Given the description of an element on the screen output the (x, y) to click on. 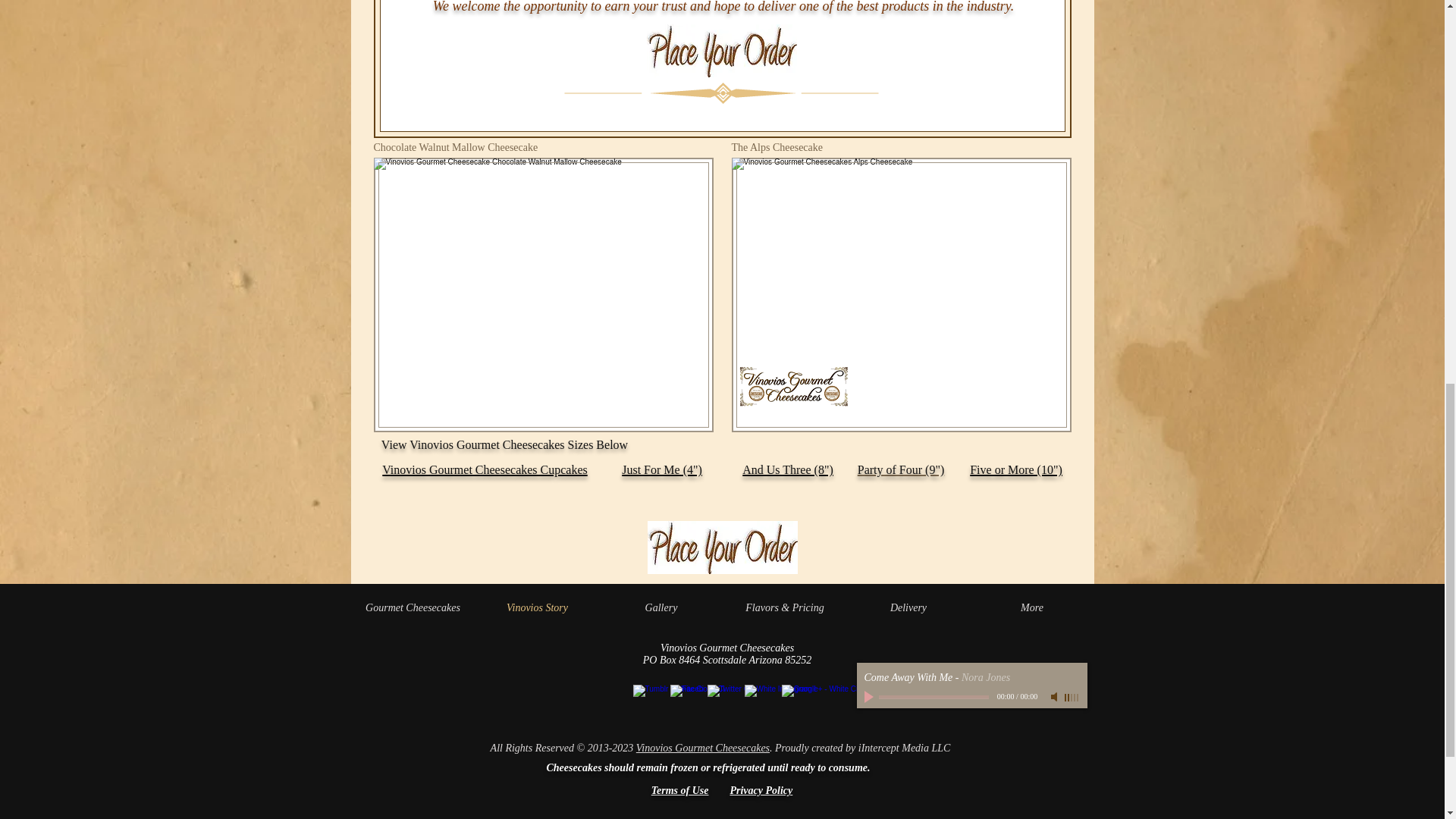
Click to order (722, 547)
Vinovios Gourmet Cheesecakes Cupcakes (484, 468)
0 (932, 697)
Delivery (907, 607)
Terms of Use (679, 790)
Gallery (660, 607)
Vinovios Gourmet Chocolate Walnut Mallow Cheesecake (542, 295)
Vinovios Gourmet White Chocolate Alps Cheesecake (900, 295)
Gourmet Cheesecakes (412, 607)
Click to order (721, 50)
